Given the description of an element on the screen output the (x, y) to click on. 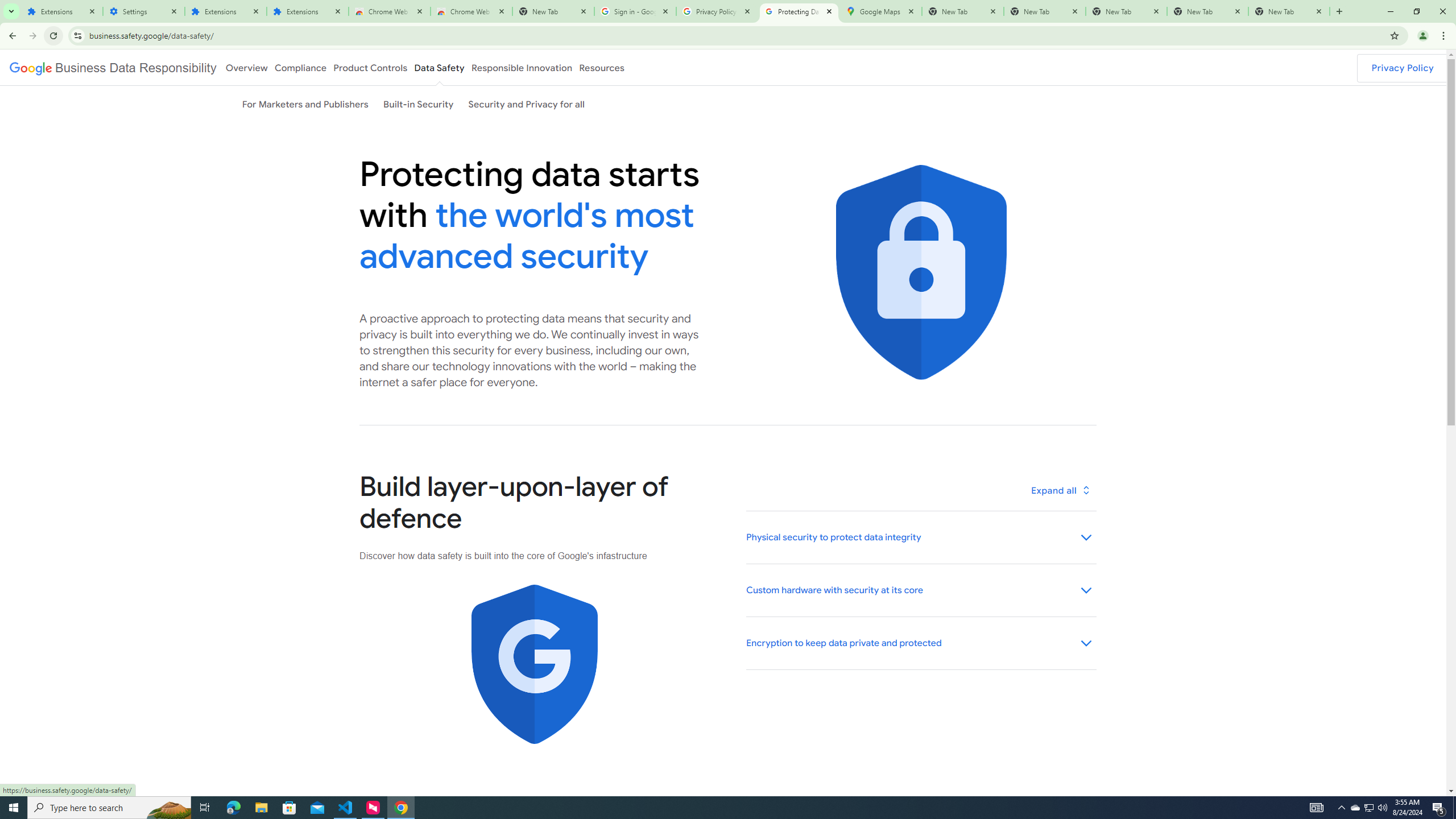
Responsible Innovation (521, 67)
Resources (601, 67)
Encryption to keep data private and protected (920, 642)
Google Maps (880, 11)
Blue shield with lock icon (920, 272)
Chrome Web Store (389, 11)
